Given the description of an element on the screen output the (x, y) to click on. 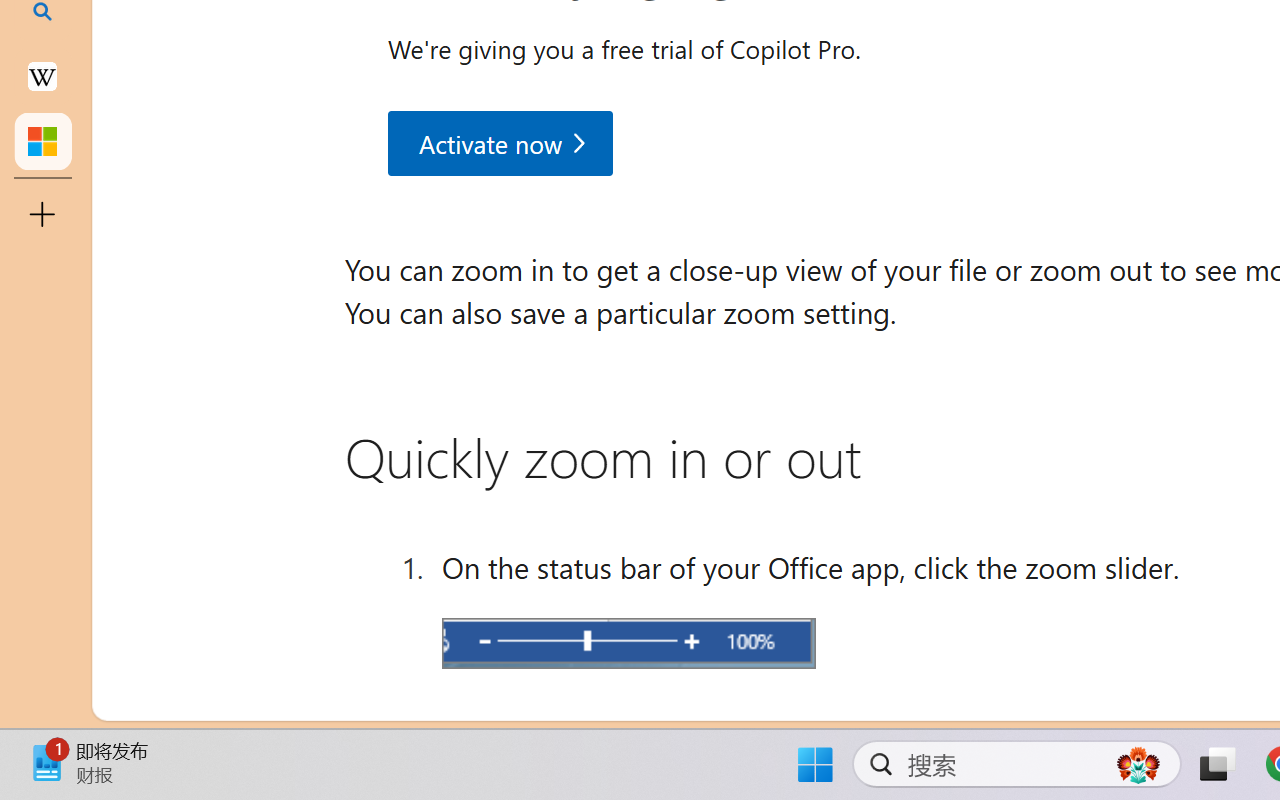
Earth - Wikipedia (42, 75)
Zoom slider (628, 642)
